Given the description of an element on the screen output the (x, y) to click on. 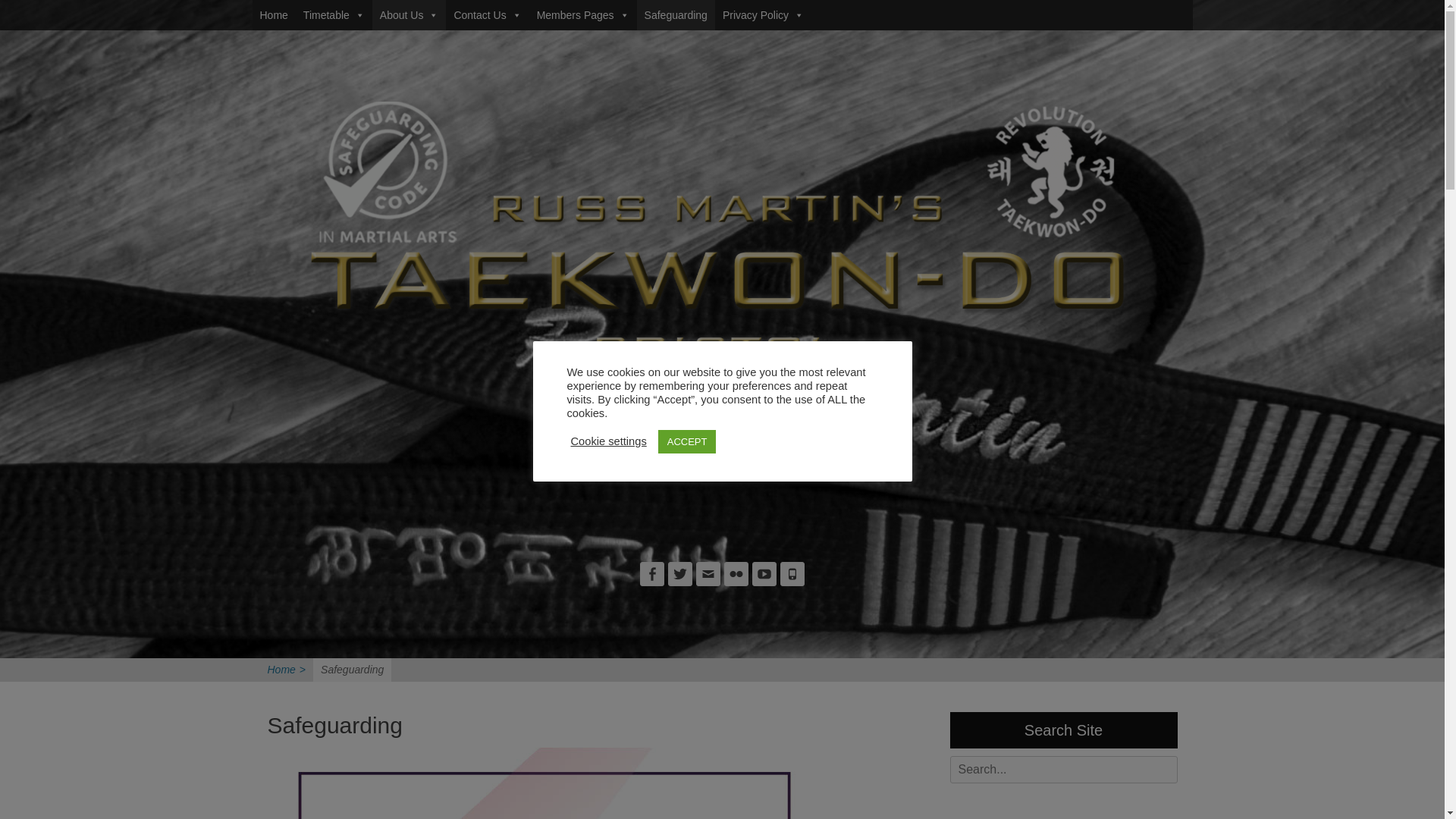
YouTube (764, 573)
Phone (792, 573)
Search for: (1062, 768)
Flickr (735, 573)
Timetable (333, 15)
Facebook (651, 573)
Members Pages (583, 15)
About Us (409, 15)
Contact Us (486, 15)
Twitter (680, 573)
Home (273, 15)
Email (707, 573)
